Given the description of an element on the screen output the (x, y) to click on. 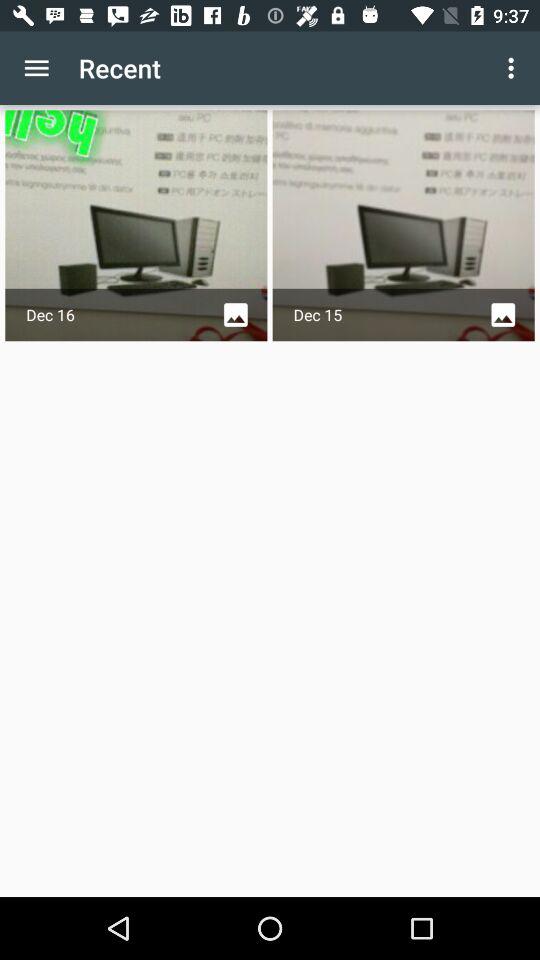
click the icon next to recent item (36, 68)
